Given the description of an element on the screen output the (x, y) to click on. 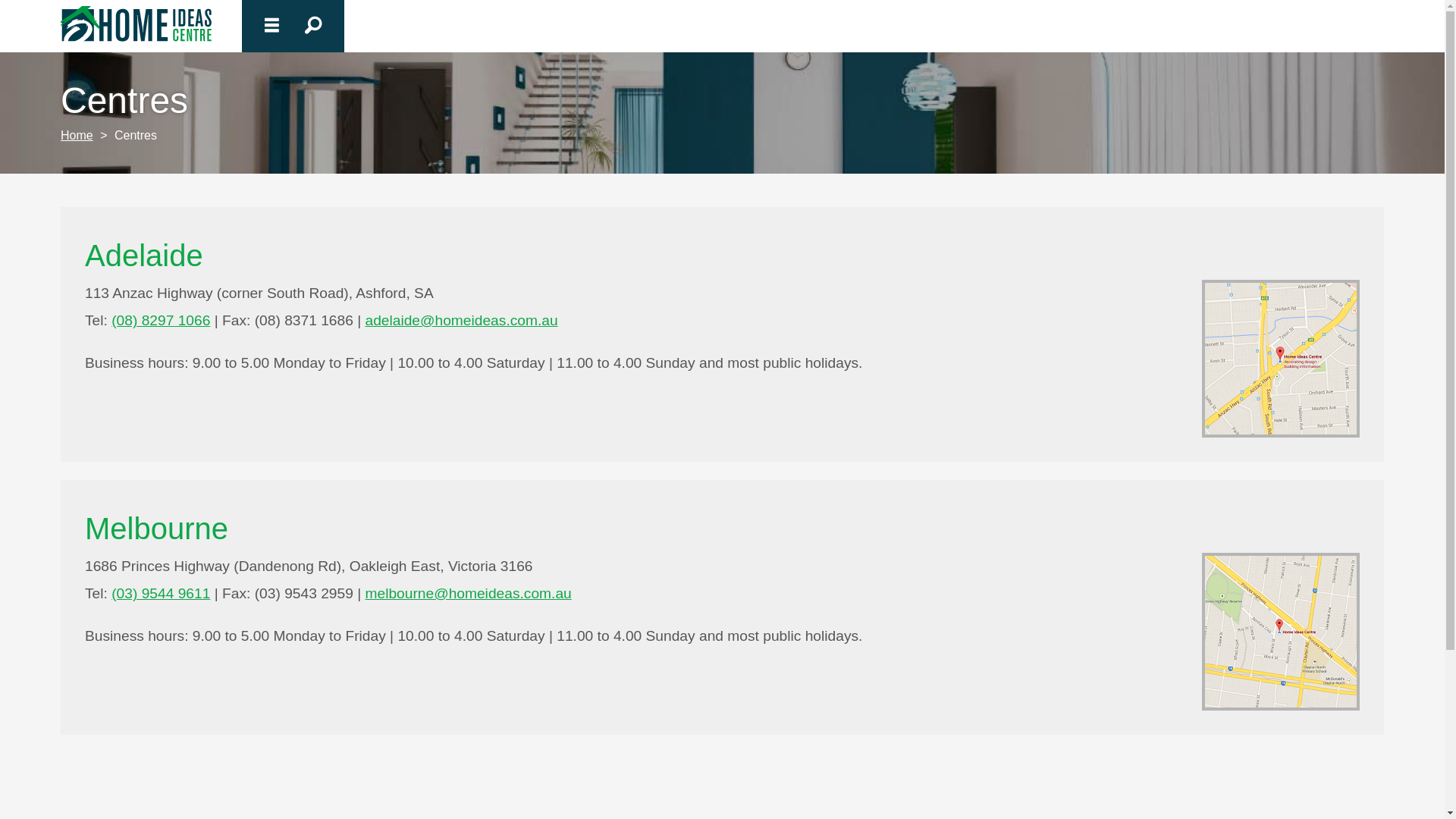
Home Element type: text (76, 134)
melbourne@homeideas.com.au Element type: text (467, 593)
(08) 8297 1066 Element type: text (160, 320)
Click to see full map Element type: hover (1280, 631)
(03) 9544 9611 Element type: text (160, 593)
adelaide@homeideas.com.au Element type: text (460, 320)
Click to see full map Element type: hover (1280, 358)
